Given the description of an element on the screen output the (x, y) to click on. 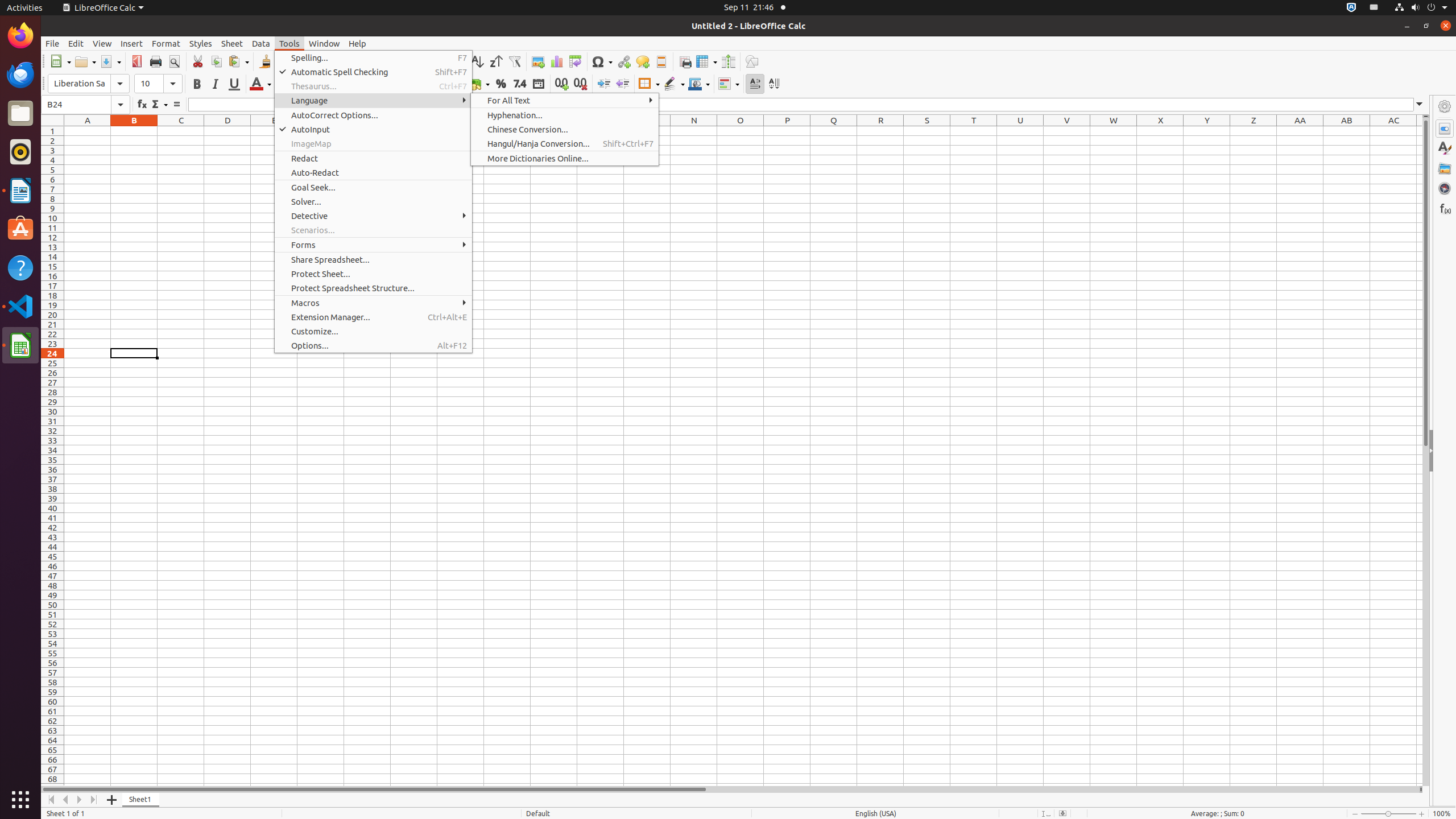
Protect Spreadsheet Structure... Element type: check-menu-item (373, 287)
X1 Element type: table-cell (1159, 130)
Font Color Element type: push-button (260, 83)
Name Box Element type: panel (85, 104)
Customize... Element type: menu-item (373, 331)
